Given the description of an element on the screen output the (x, y) to click on. 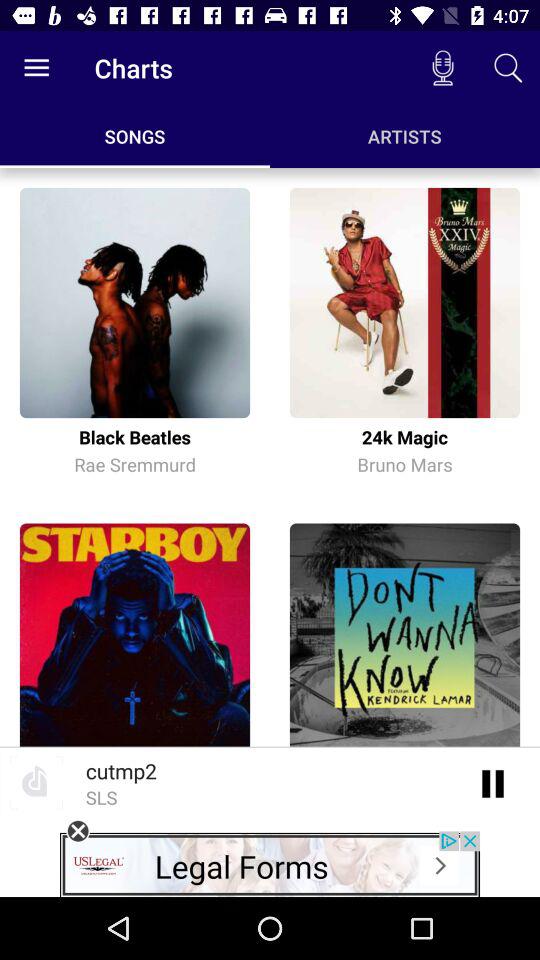
go to play (493, 782)
